Given the description of an element on the screen output the (x, y) to click on. 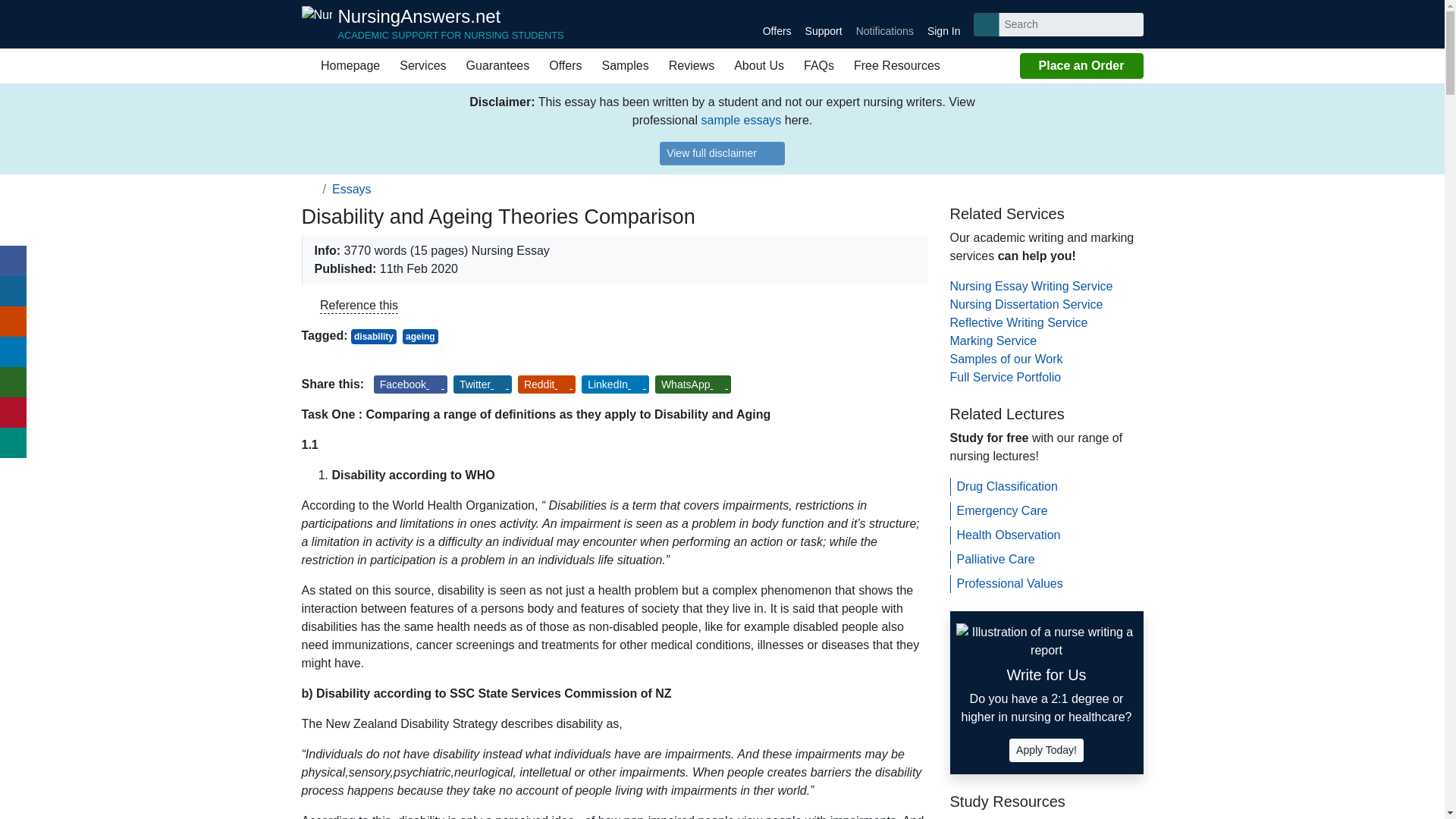
Go to the NursingAnswers.net homepage (432, 23)
Reviews (691, 65)
Samples (624, 65)
Sign In (944, 23)
Offers (564, 65)
Homepage (345, 65)
Offers (776, 23)
About Us (758, 65)
View full disclaimer (721, 153)
Notifications (884, 23)
Guarantees (432, 23)
homepage link (498, 65)
Support (309, 188)
Services (822, 23)
